Given the description of an element on the screen output the (x, y) to click on. 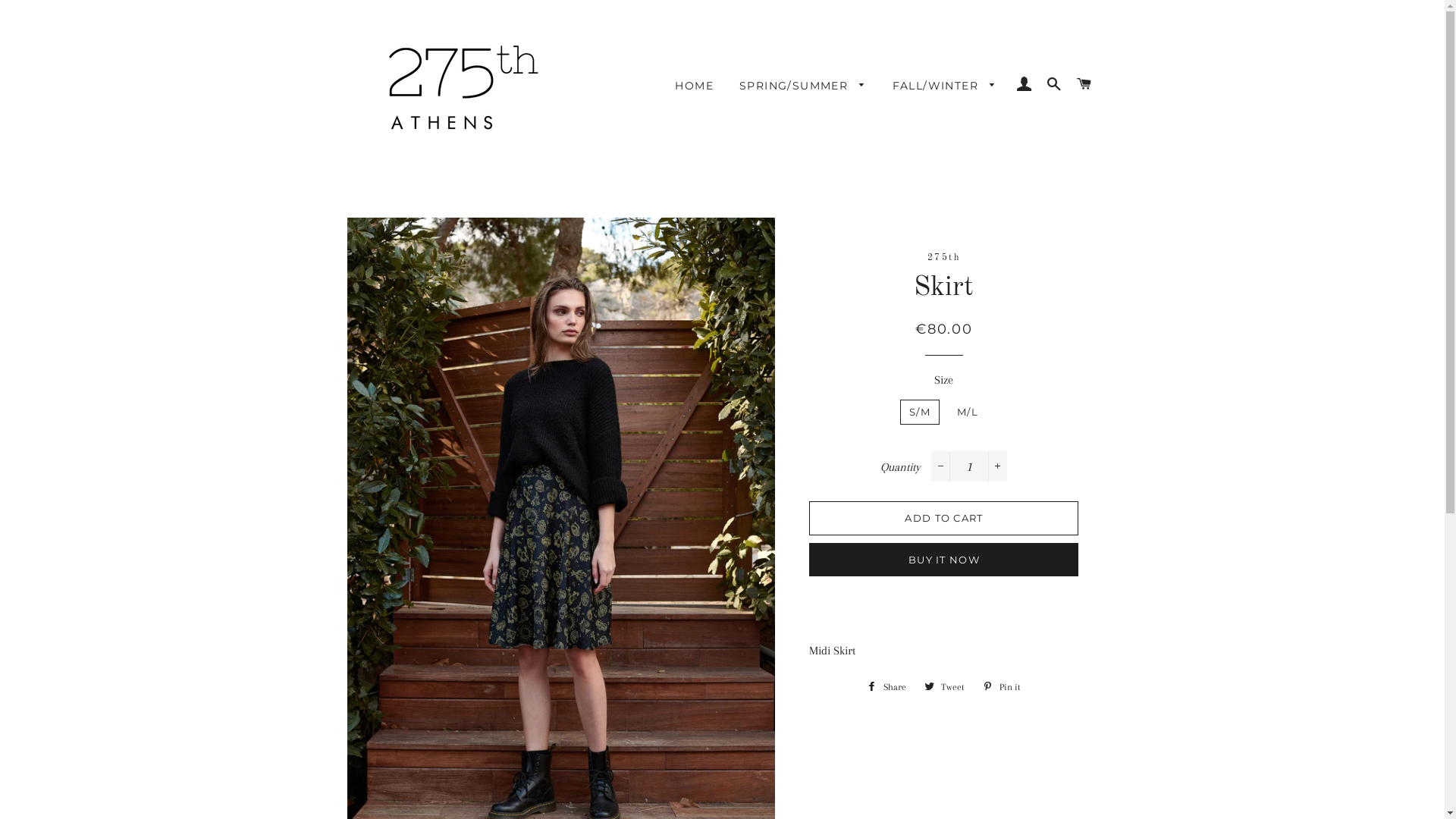
CART Element type: text (1083, 83)
SEARCH Element type: text (1054, 83)
Share
Share on Facebook Element type: text (886, 686)
+ Element type: text (997, 466)
SPRING/SUMMER Element type: text (803, 86)
FALL/WINTER Element type: text (944, 86)
ADD TO CART Element type: text (943, 517)
HOME Element type: text (693, 86)
Tweet
Tweet on Twitter Element type: text (944, 686)
Pin it
Pin on Pinterest Element type: text (1001, 686)
BUY IT NOW Element type: text (943, 559)
LOG IN Element type: text (1023, 83)
